Given the description of an element on the screen output the (x, y) to click on. 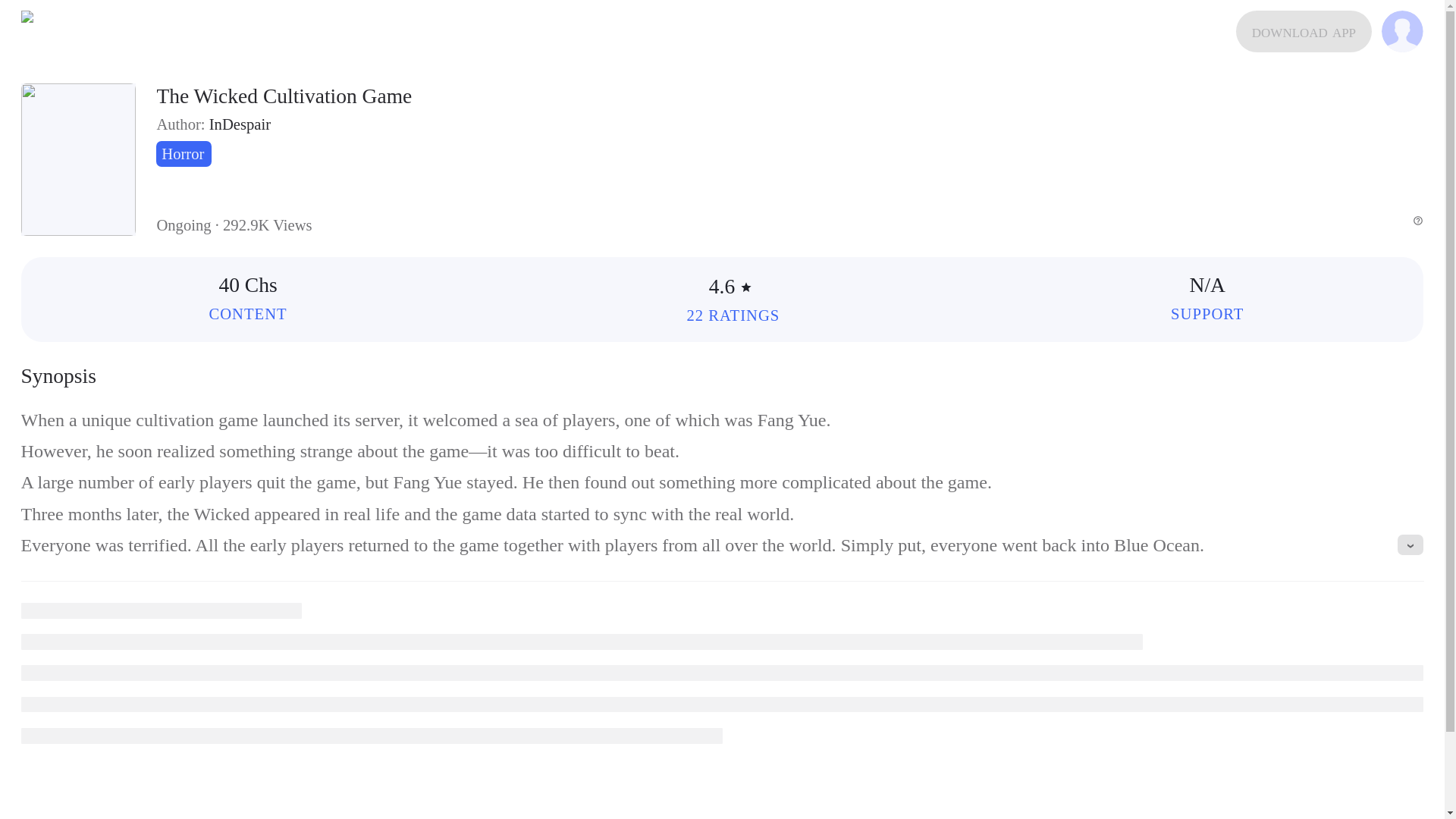
Horror (183, 153)
Content of The Wicked Cultivation Game (247, 313)
download app (1303, 31)
Reviews (731, 315)
Horror (183, 153)
Webnovel (41, 31)
